Given the description of an element on the screen output the (x, y) to click on. 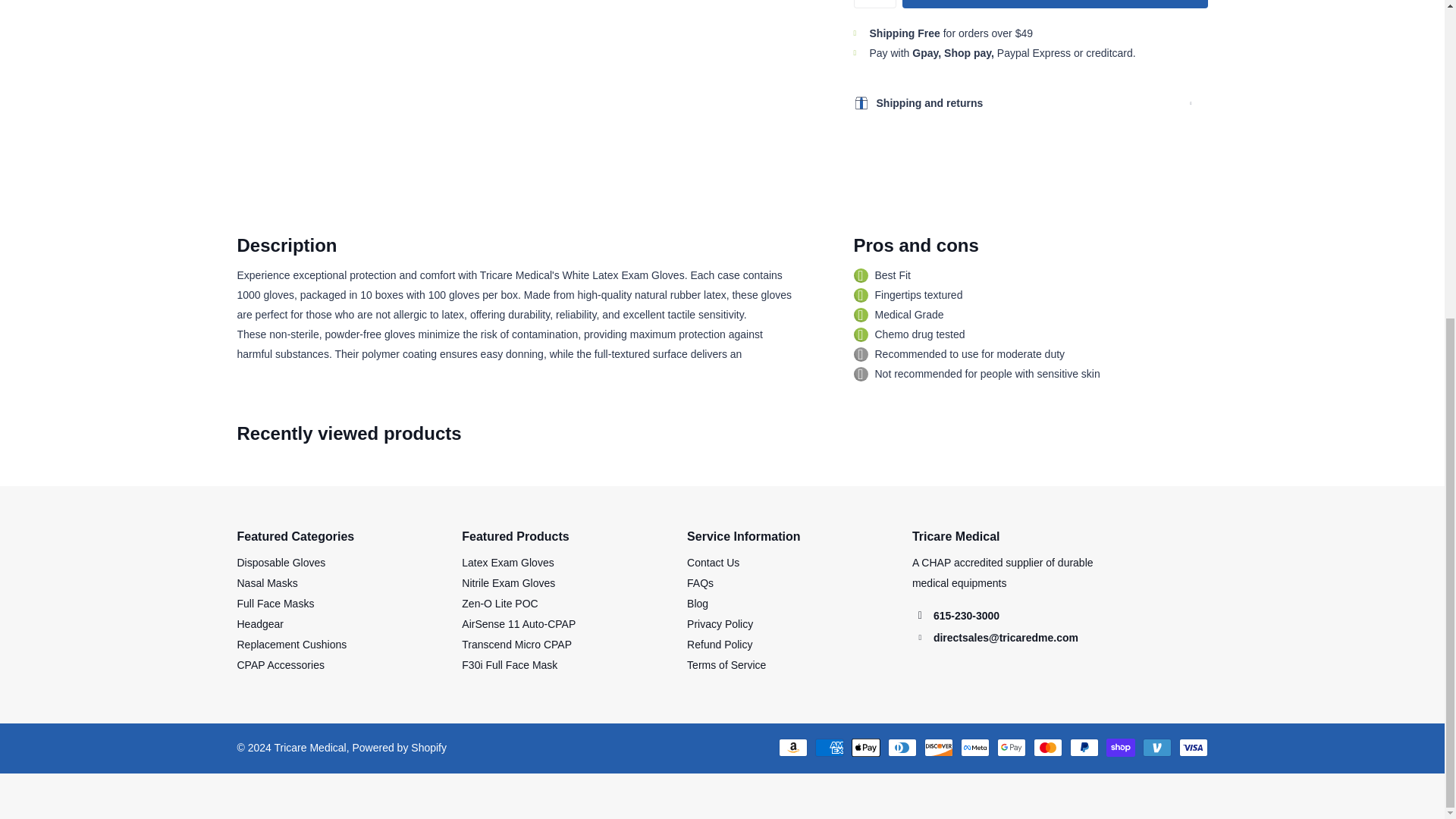
Nasal Masks (266, 582)
Contact Us (713, 562)
Replacement Cushions (290, 644)
Headgear (259, 623)
Visa (1192, 747)
Shop Pay (1119, 747)
1 (874, 4)
Nitrile Exam Gloves (507, 582)
Diners Club (900, 747)
Zen-O Lite POC (499, 603)
Disposable Gloves (279, 562)
Full Face Masks (274, 603)
PayPal (1082, 747)
Google Pay (1010, 747)
CPAP Accessories (279, 664)
